Given the description of an element on the screen output the (x, y) to click on. 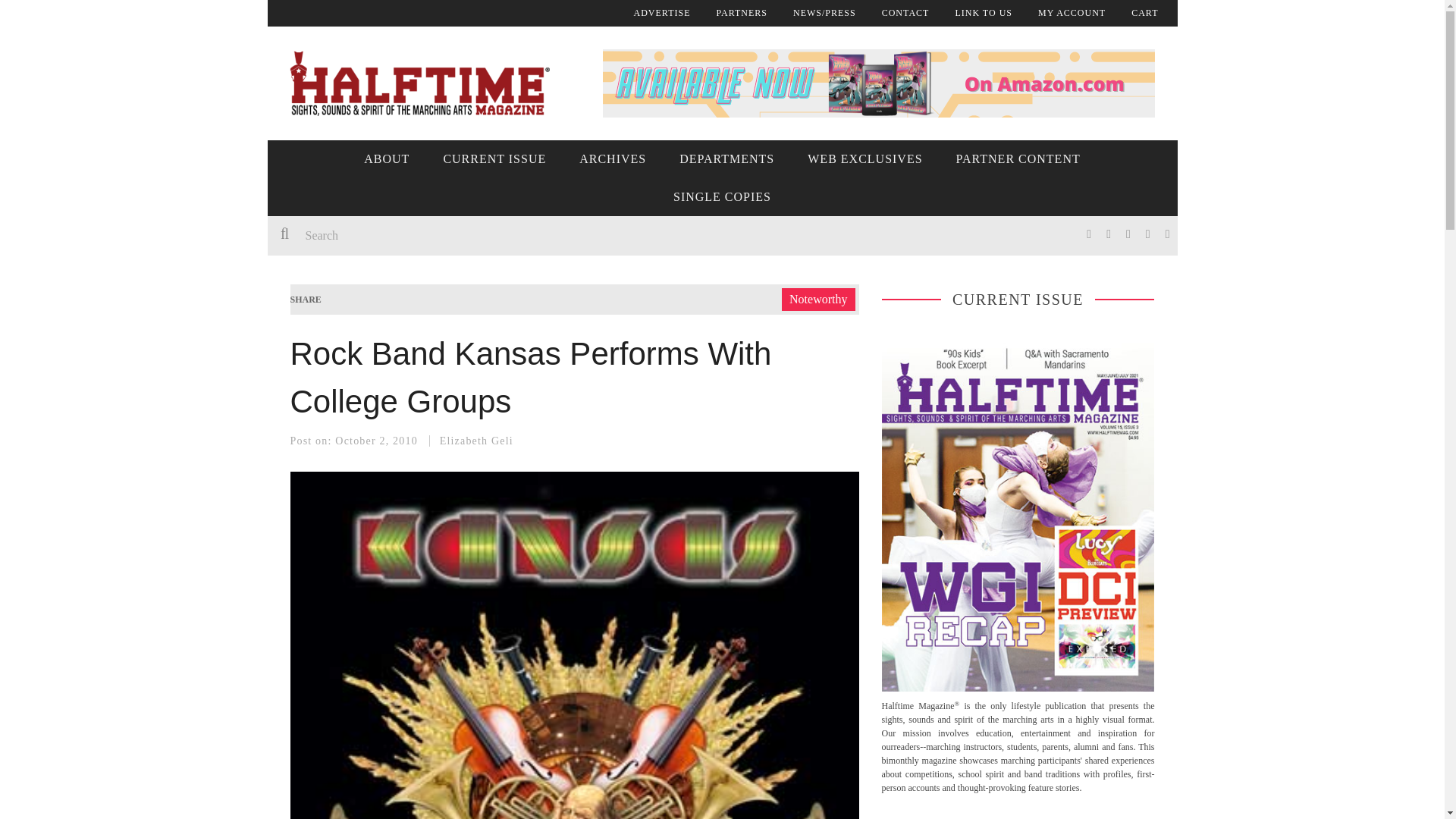
Search (494, 235)
Posts by Elizabeth Geli (476, 440)
